Given the description of an element on the screen output the (x, y) to click on. 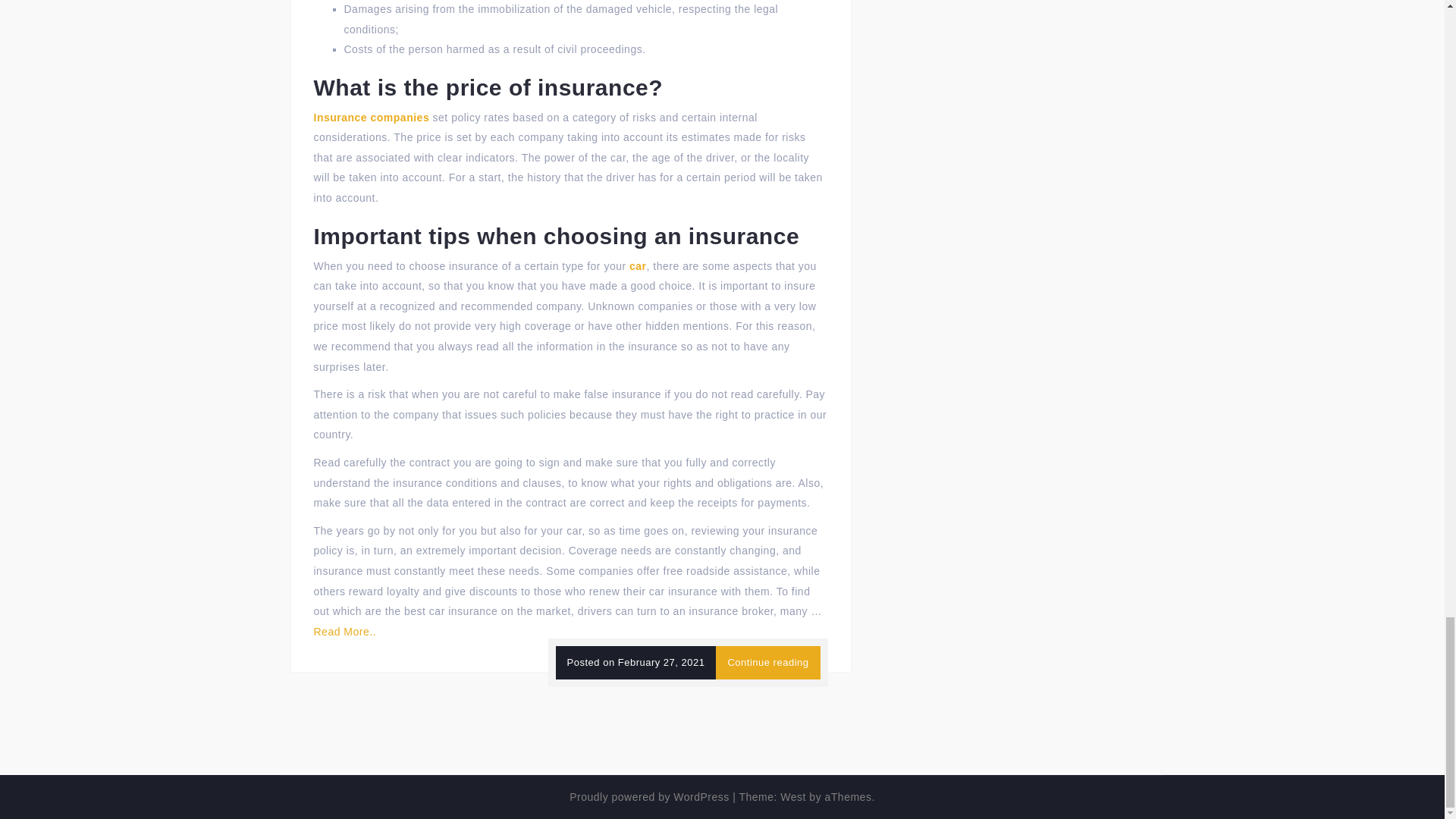
Tips when Looking the Best Car Coverages (767, 663)
